Given the description of an element on the screen output the (x, y) to click on. 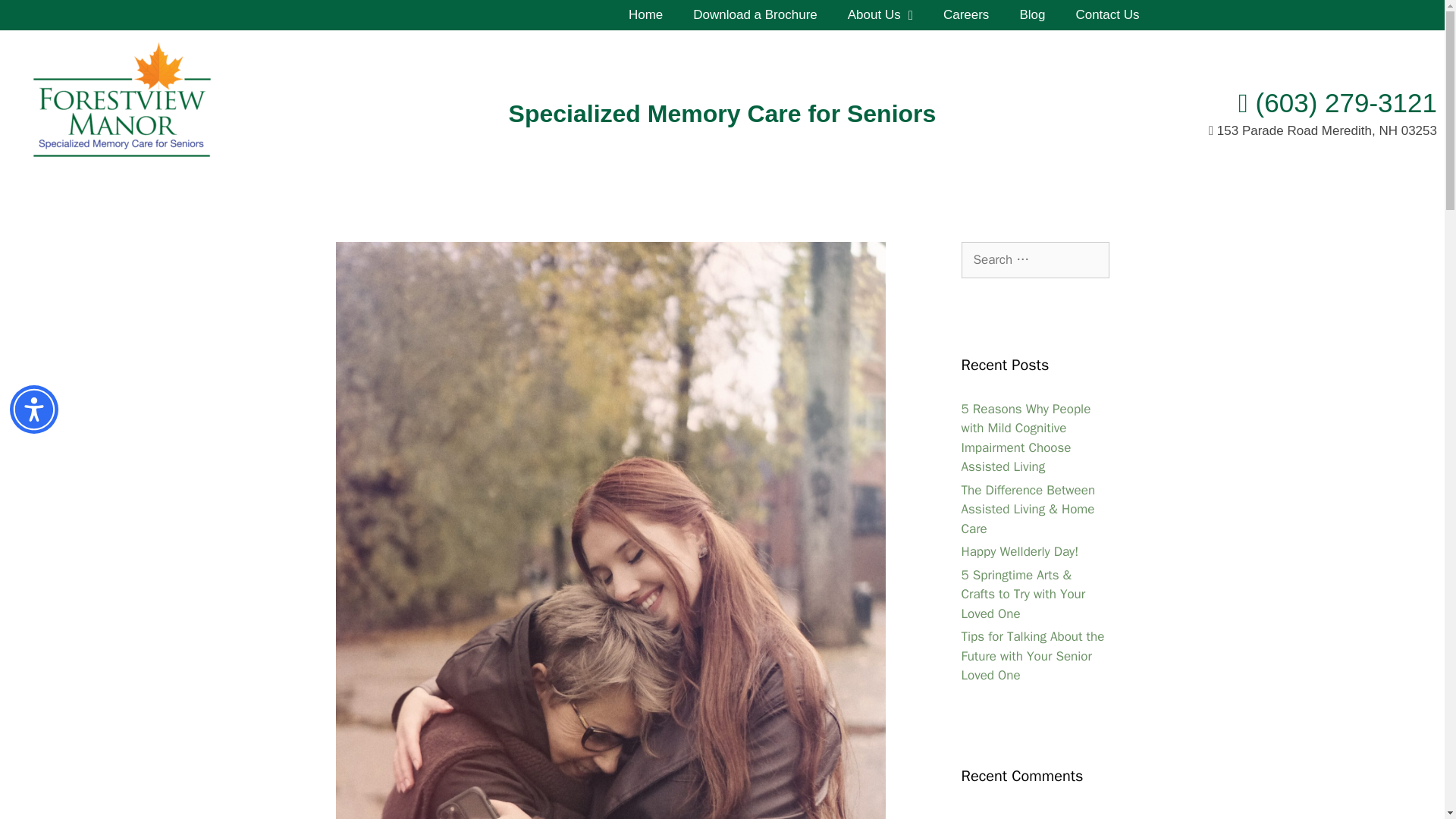
Search (35, 18)
Download a Brochure (754, 15)
Contact Us (1106, 15)
Home (645, 15)
Accessibility Menu (34, 409)
About Us (880, 15)
Search for: (1034, 259)
Careers (966, 15)
Happy Wellderly Day! (1019, 551)
Blog (1031, 15)
